Given the description of an element on the screen output the (x, y) to click on. 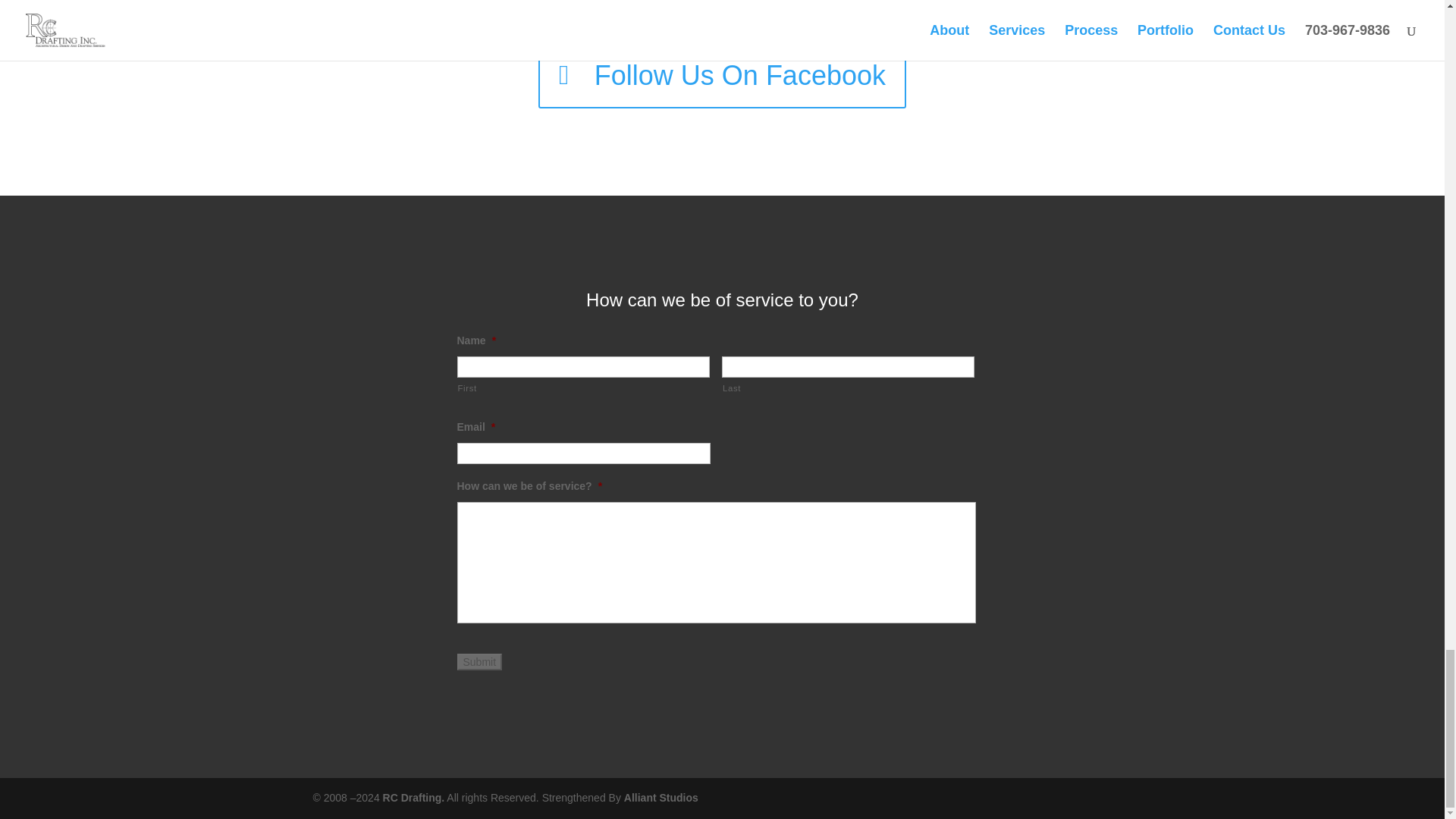
Submit (479, 661)
Follow Us On Facebook (721, 75)
Alliant Studios (661, 797)
Submit (479, 661)
